Given the description of an element on the screen output the (x, y) to click on. 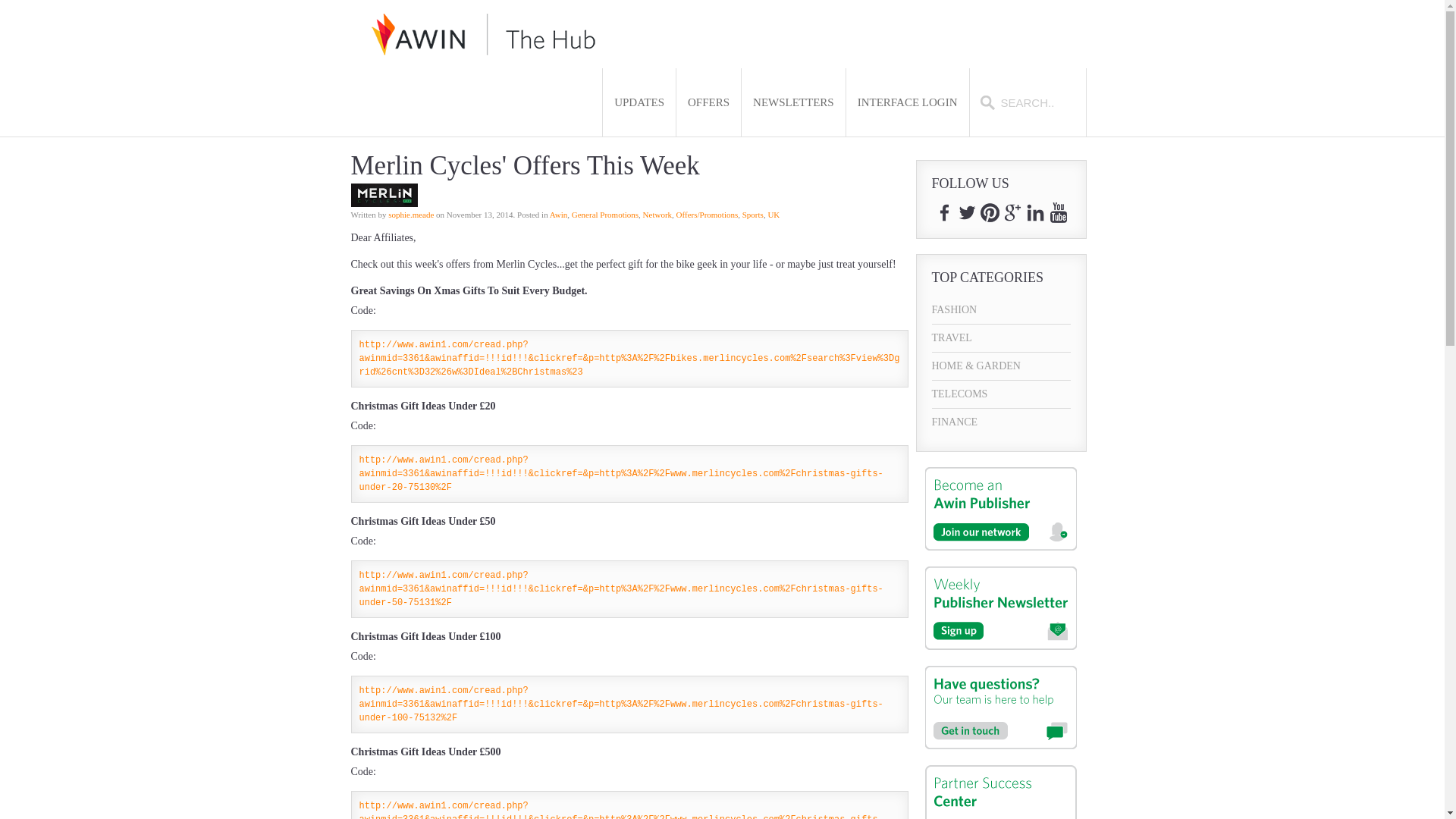
Network (657, 214)
TRAVEL (1000, 338)
INTERFACE LOGIN (907, 102)
sophie.meade (410, 214)
sophie.meade (410, 214)
UK (772, 214)
TELECOMS (1000, 393)
Sports (752, 214)
General Promotions (605, 214)
Interface Login (907, 102)
